Given the description of an element on the screen output the (x, y) to click on. 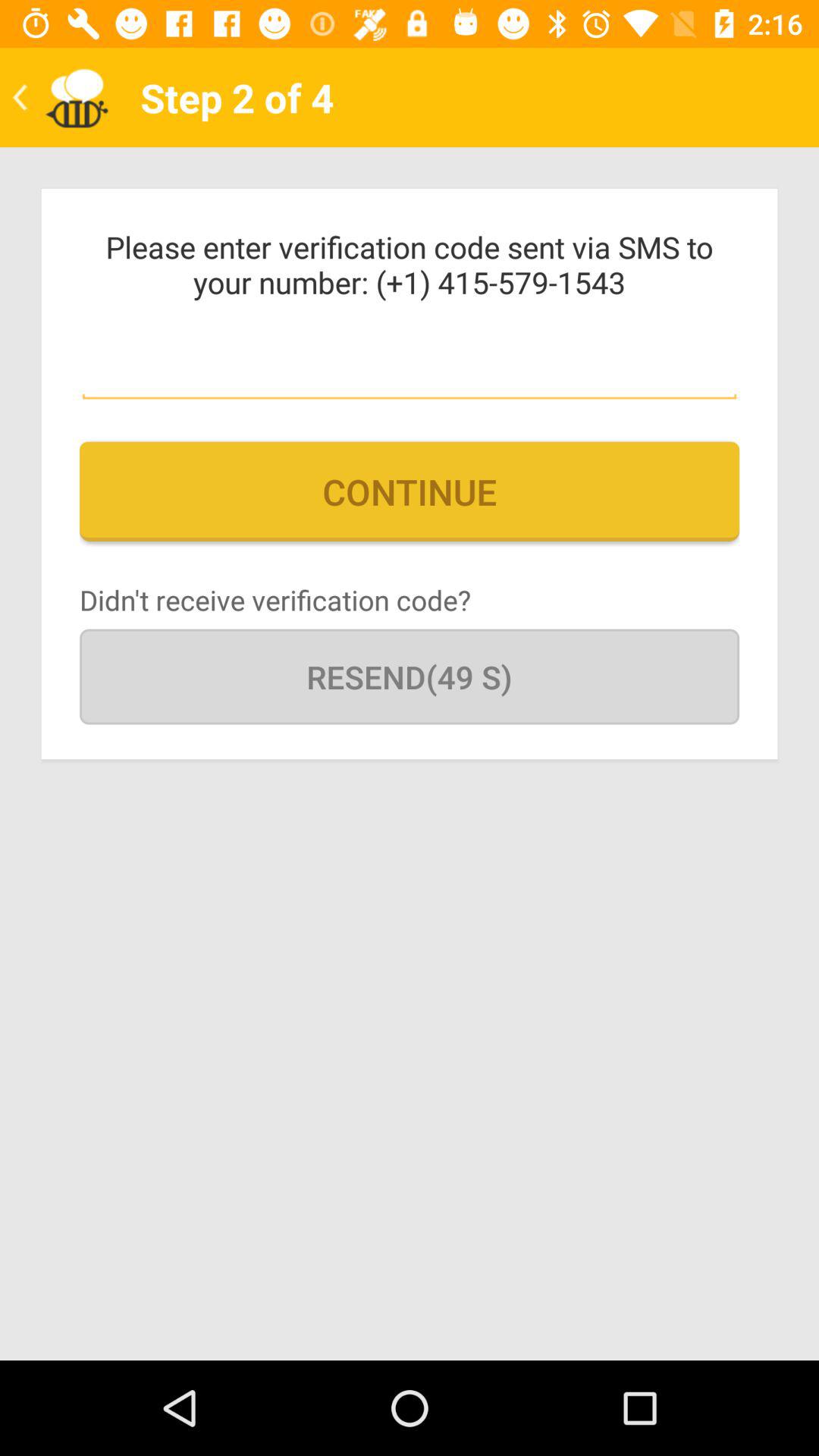
swipe to continue (409, 491)
